Given the description of an element on the screen output the (x, y) to click on. 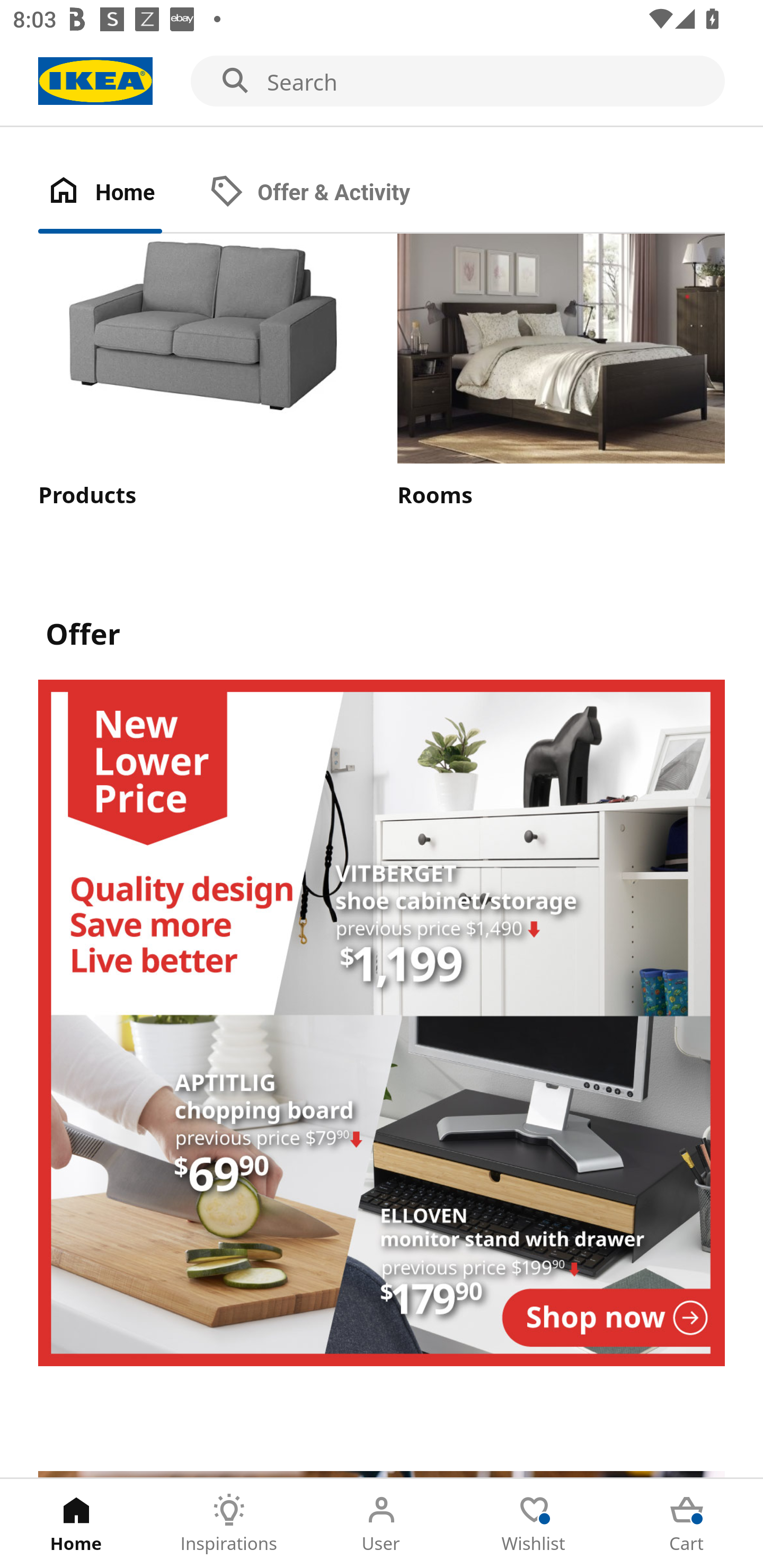
Search (381, 81)
Home
Tab 1 of 2 (118, 192)
Offer & Activity
Tab 2 of 2 (327, 192)
Products (201, 372)
Rooms (560, 372)
Home
Tab 1 of 5 (76, 1522)
Inspirations
Tab 2 of 5 (228, 1522)
User
Tab 3 of 5 (381, 1522)
Wishlist
Tab 4 of 5 (533, 1522)
Cart
Tab 5 of 5 (686, 1522)
